Given the description of an element on the screen output the (x, y) to click on. 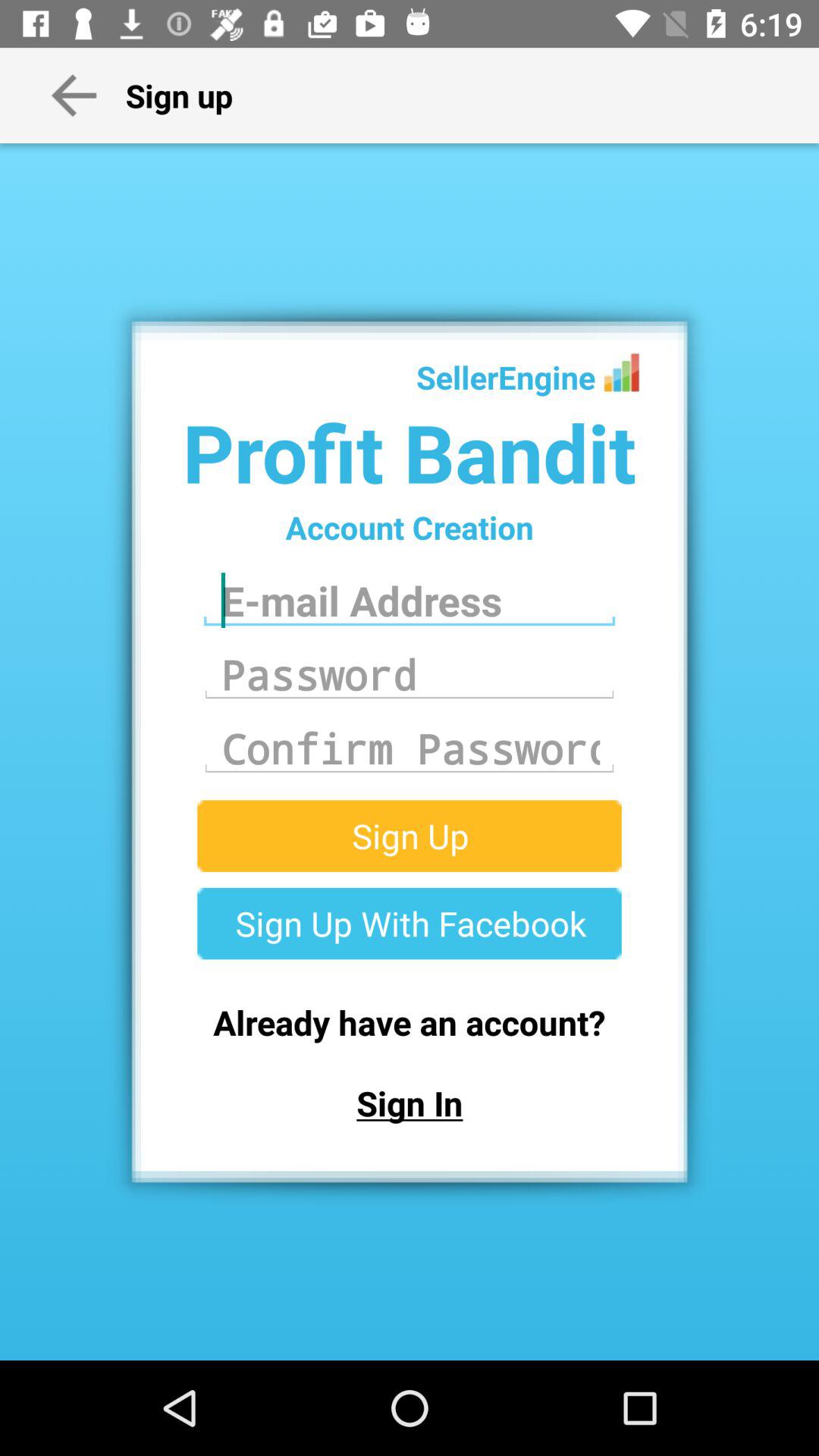
textbox for mail (409, 600)
